Given the description of an element on the screen output the (x, y) to click on. 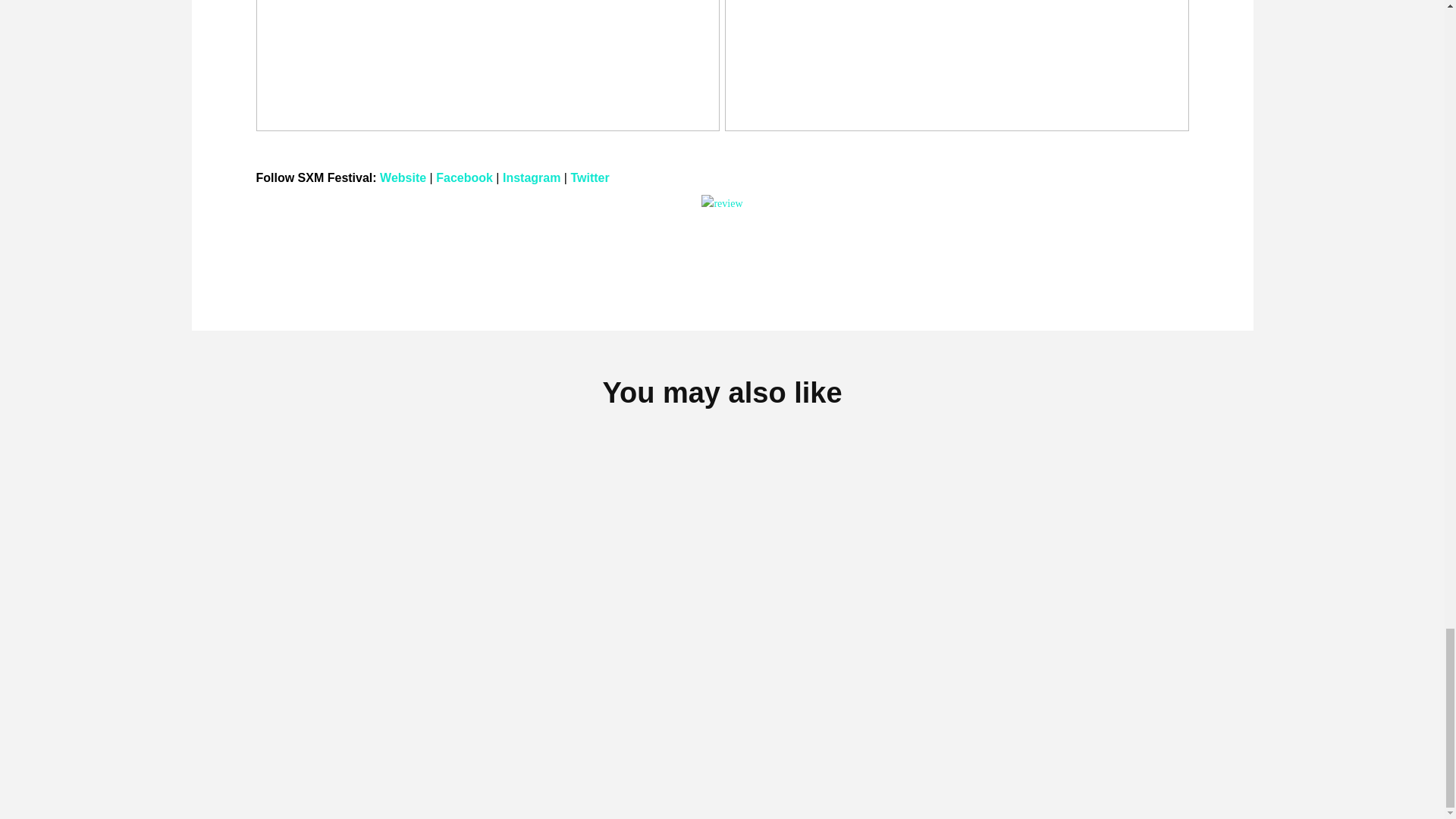
Twitter (589, 177)
Facebook (464, 177)
Website (403, 177)
Instagram (531, 177)
